Given the description of an element on the screen output the (x, y) to click on. 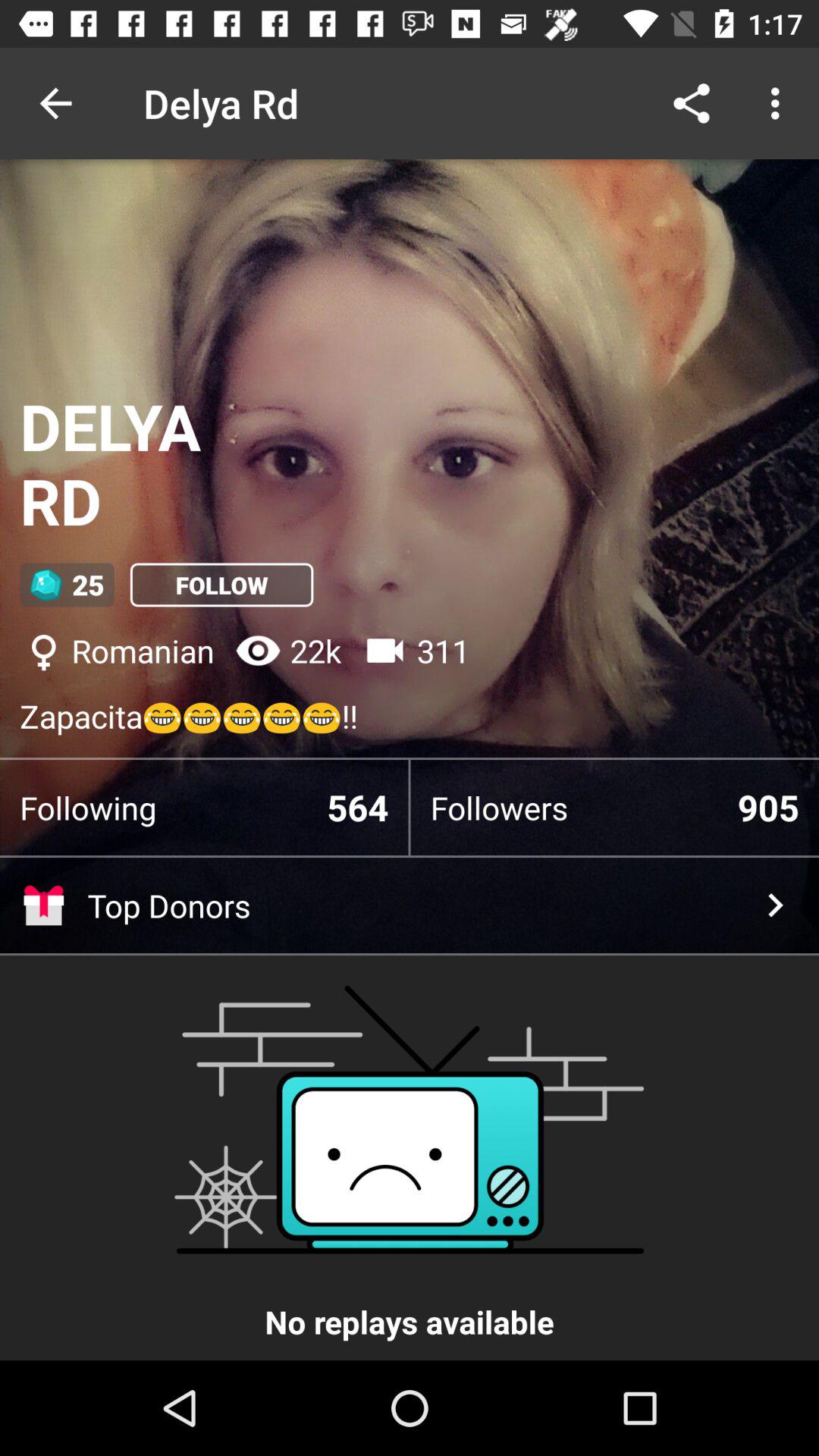
press the icon to the right of delya rd icon (691, 103)
